Given the description of an element on the screen output the (x, y) to click on. 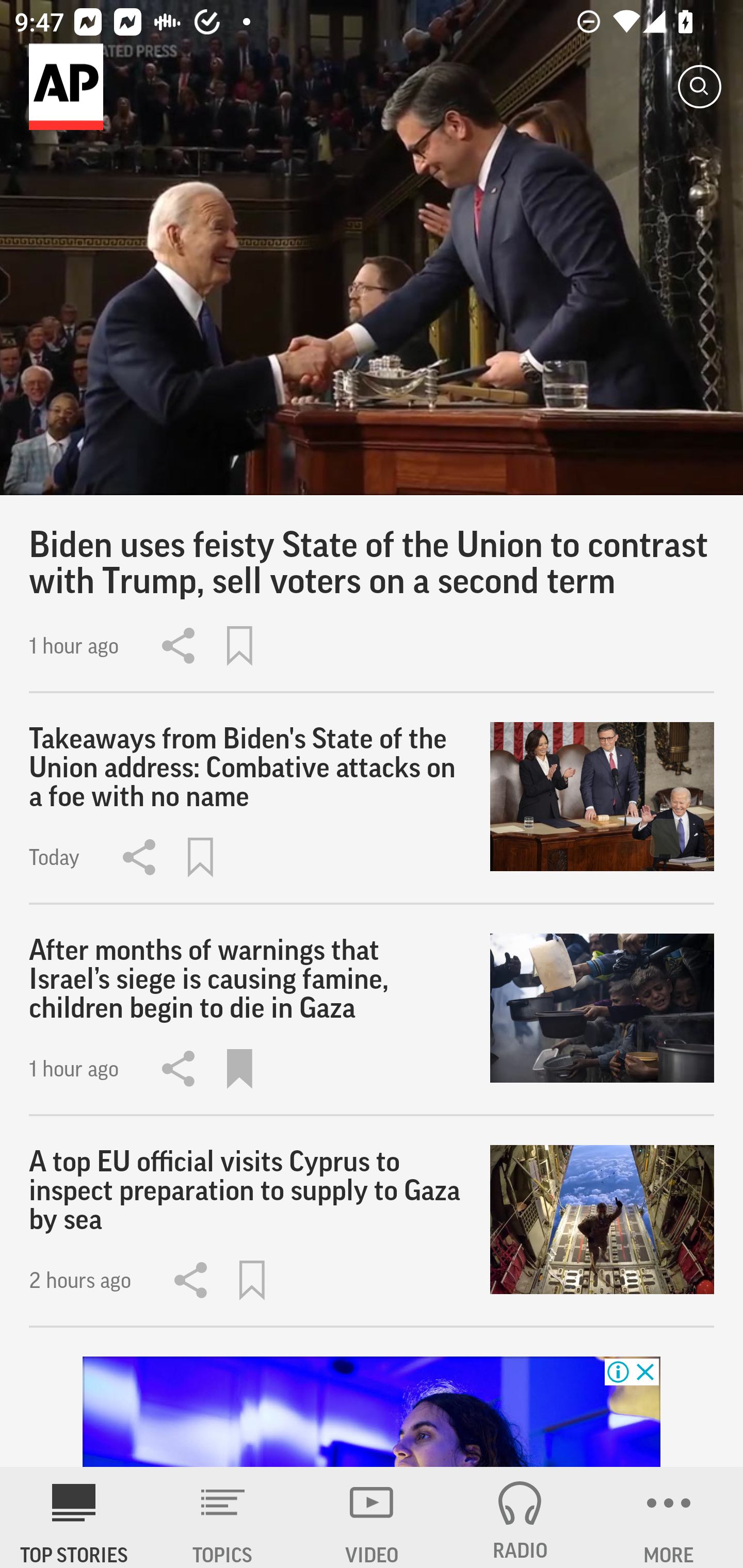
AP News TOP STORIES (74, 1517)
TOPICS (222, 1517)
VIDEO (371, 1517)
RADIO (519, 1517)
MORE (668, 1517)
